Given the description of an element on the screen output the (x, y) to click on. 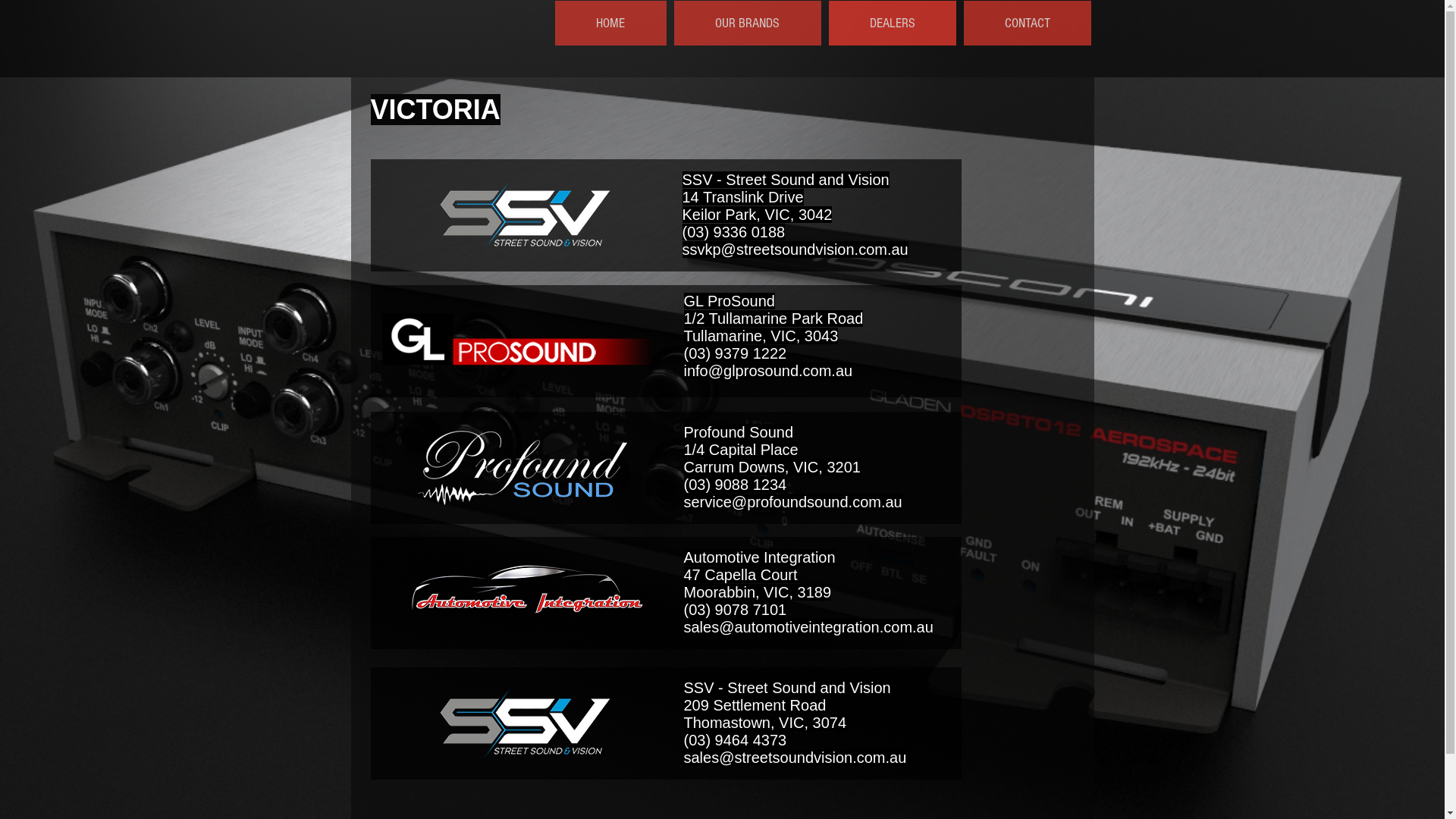
info@glprosound.com.au Element type: text (768, 370)
profoundsound.png Element type: hover (521, 467)
CONTACT Element type: text (1026, 22)
OUR BRANDS Element type: text (746, 22)
GL-Footer_Logo.png Element type: hover (521, 339)
sales@streetsoundvision.com.au Element type: text (795, 757)
sales@automotiveintegration.com.au Element type: text (808, 626)
service@profoundsound.com.au Element type: text (793, 501)
DEALERS Element type: text (891, 22)
SSV.png Element type: hover (524, 723)
ssvkp@streetsoundvision.com.au Element type: text (795, 249)
HOME Element type: text (610, 22)
SSV.png Element type: hover (524, 214)
